Given the description of an element on the screen output the (x, y) to click on. 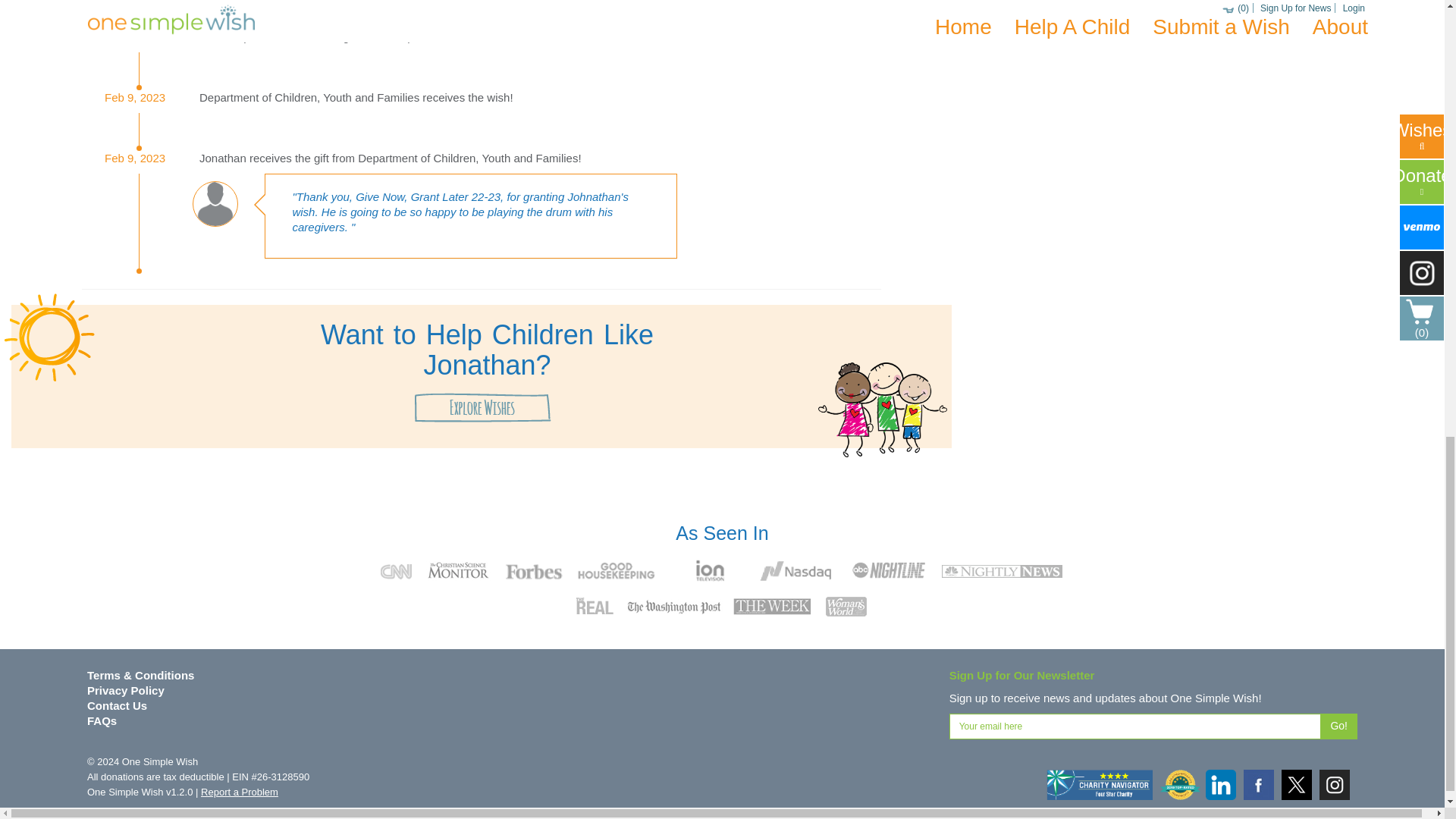
Follow on LinkedIn (1220, 784)
Follow on Facebook (1258, 784)
Follow on Twitter (1296, 784)
Follow on Instagram (1334, 784)
